Given the description of an element on the screen output the (x, y) to click on. 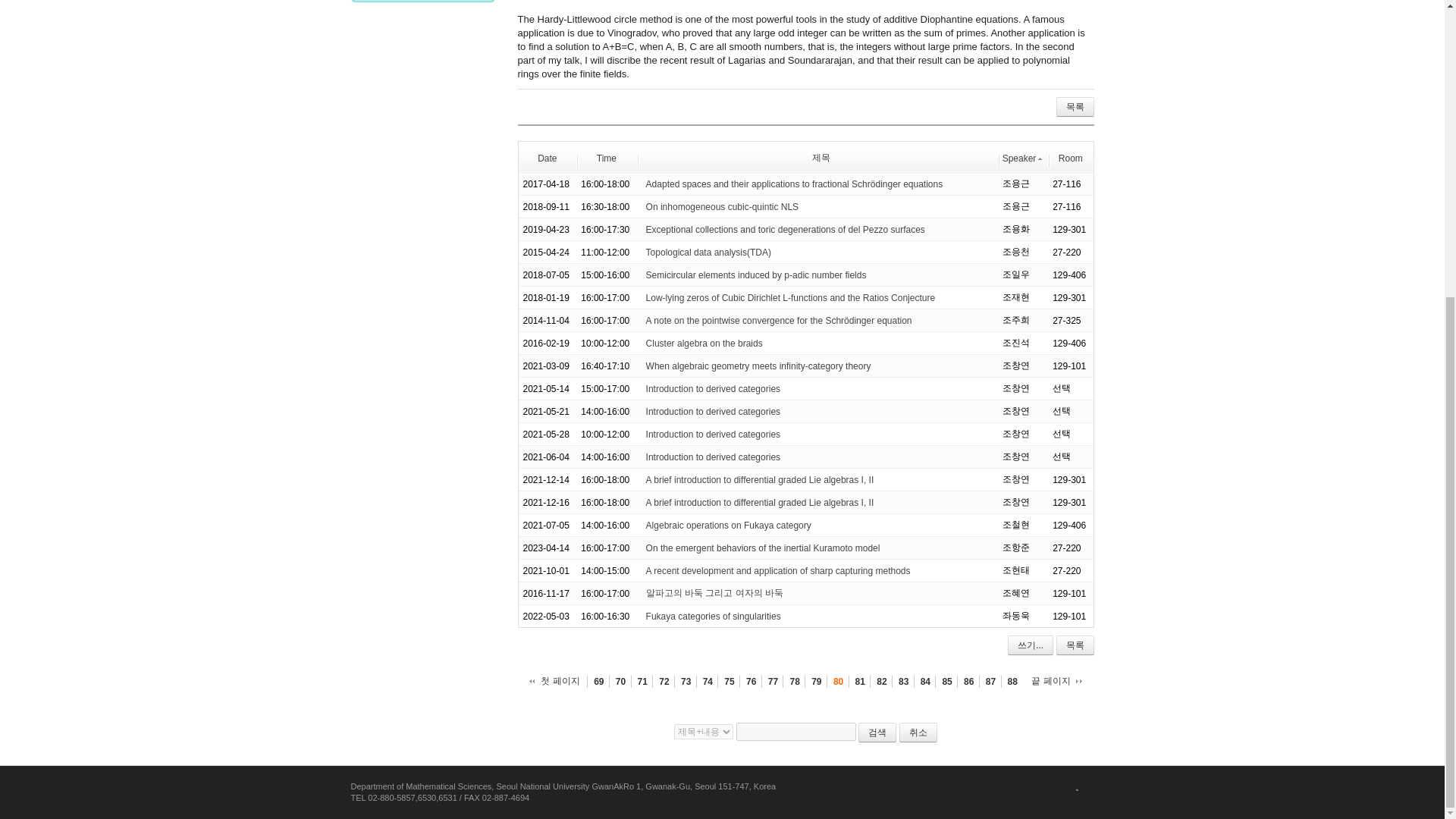
Time (605, 158)
Room (1070, 158)
Speaker (1023, 158)
On inhomogeneous cubic-quintic NLS (721, 206)
Date (546, 158)
